Given the description of an element on the screen output the (x, y) to click on. 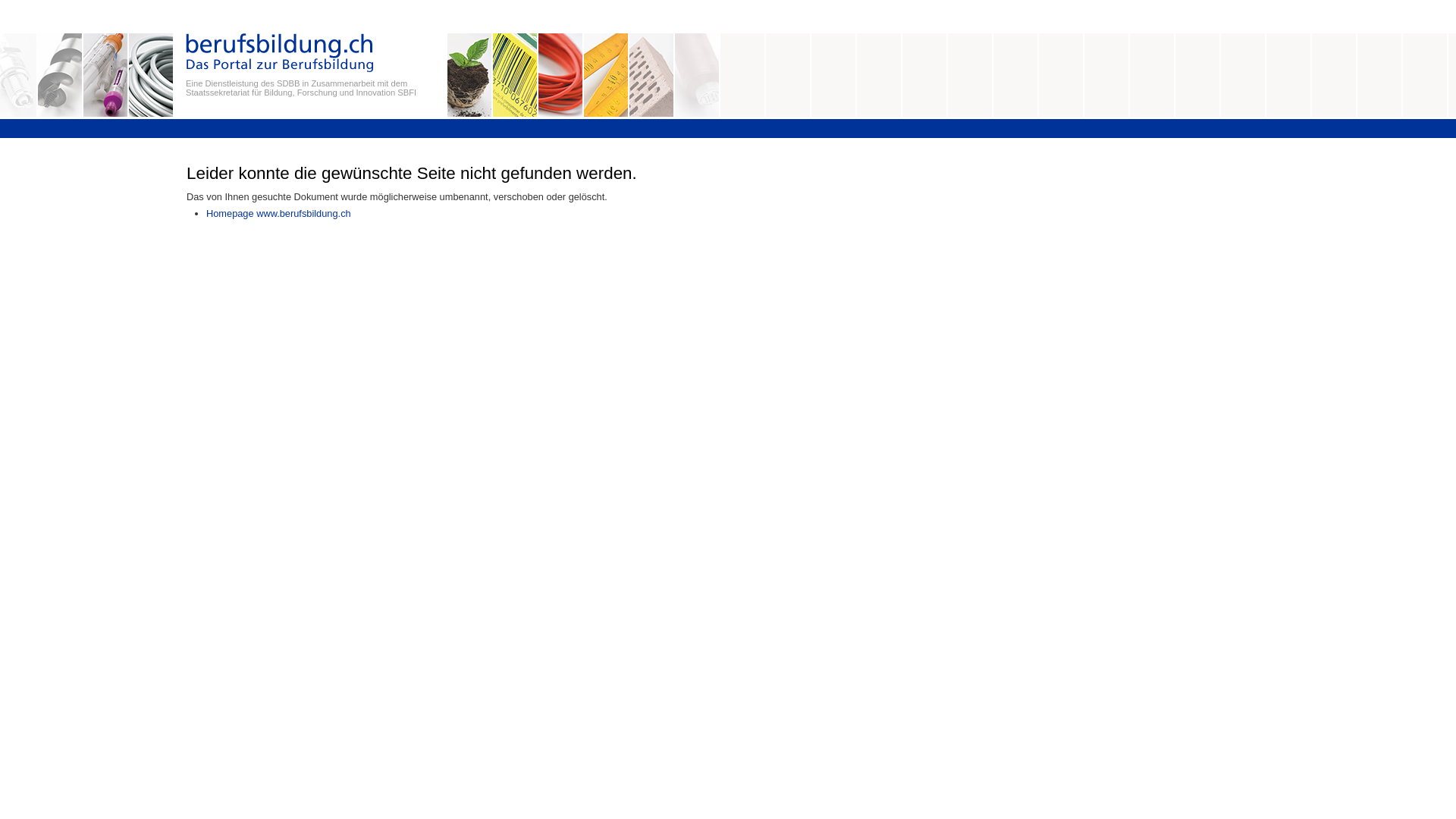
Homepage www.berufsbildung.ch Element type: text (278, 213)
